Given the description of an element on the screen output the (x, y) to click on. 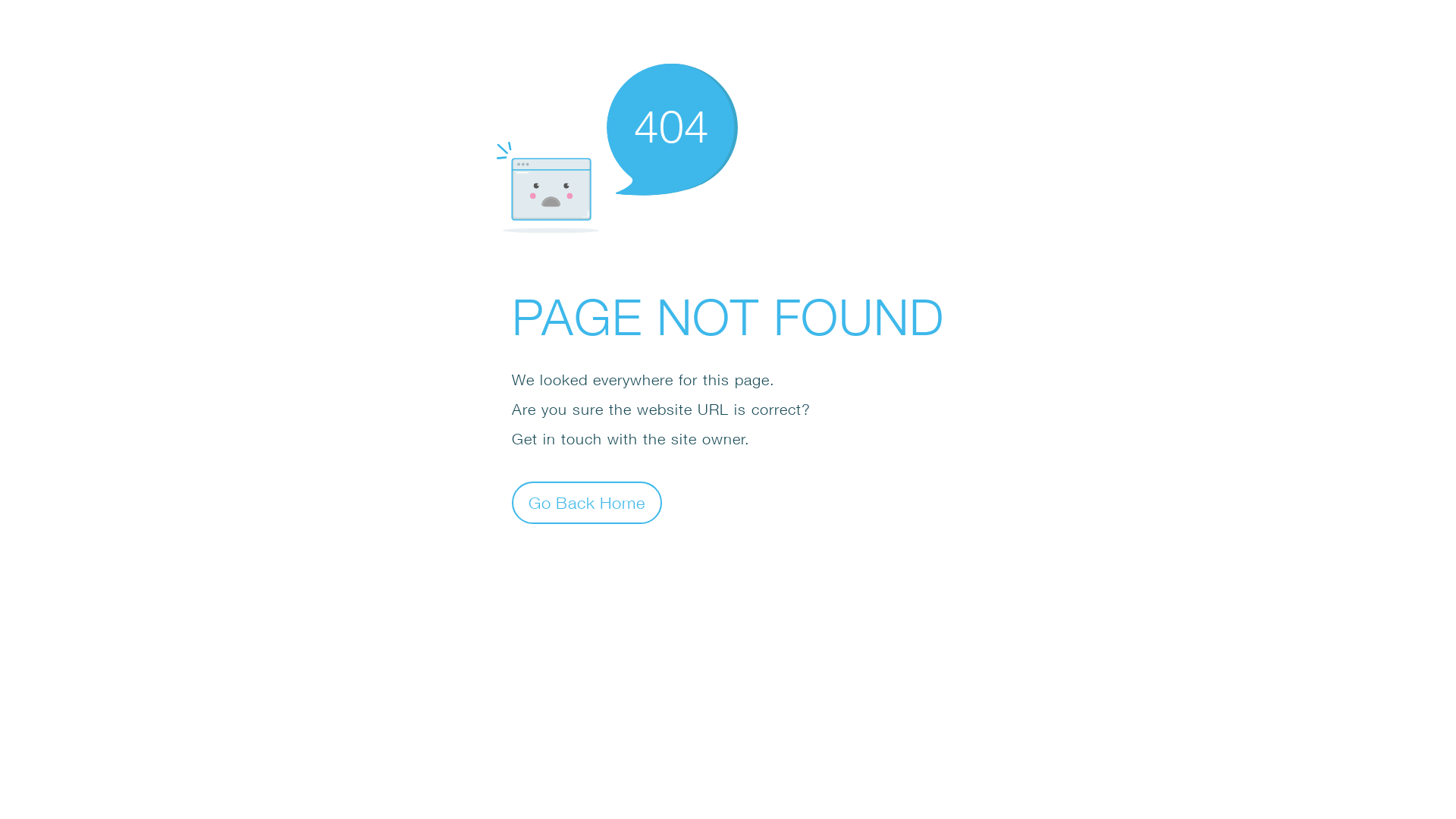
Go Back Home Element type: text (586, 502)
